Given the description of an element on the screen output the (x, y) to click on. 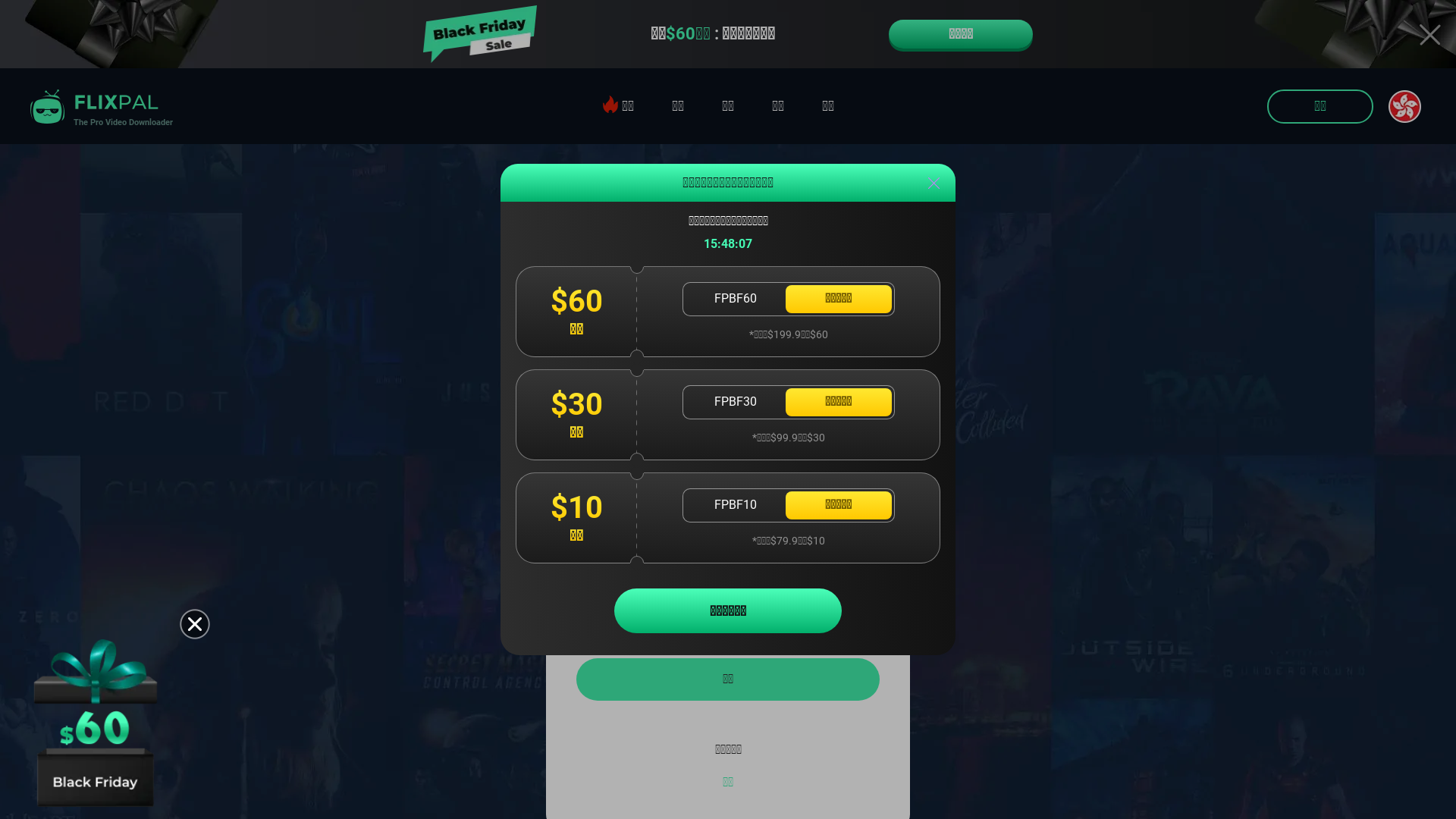
The Pro Video Downloader Element type: text (98, 106)
